Given the description of an element on the screen output the (x, y) to click on. 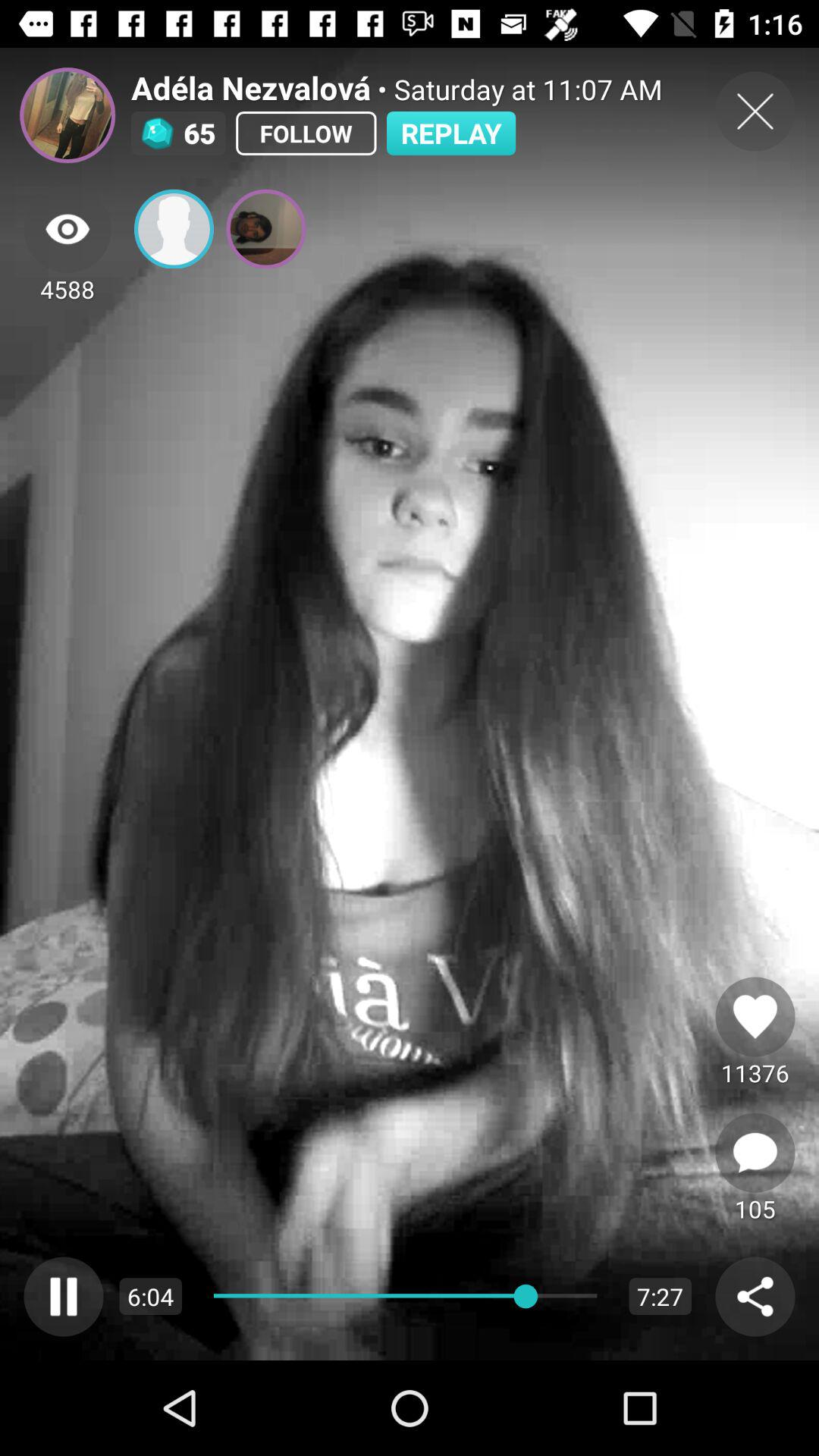
commant (755, 1152)
